Given the description of an element on the screen output the (x, y) to click on. 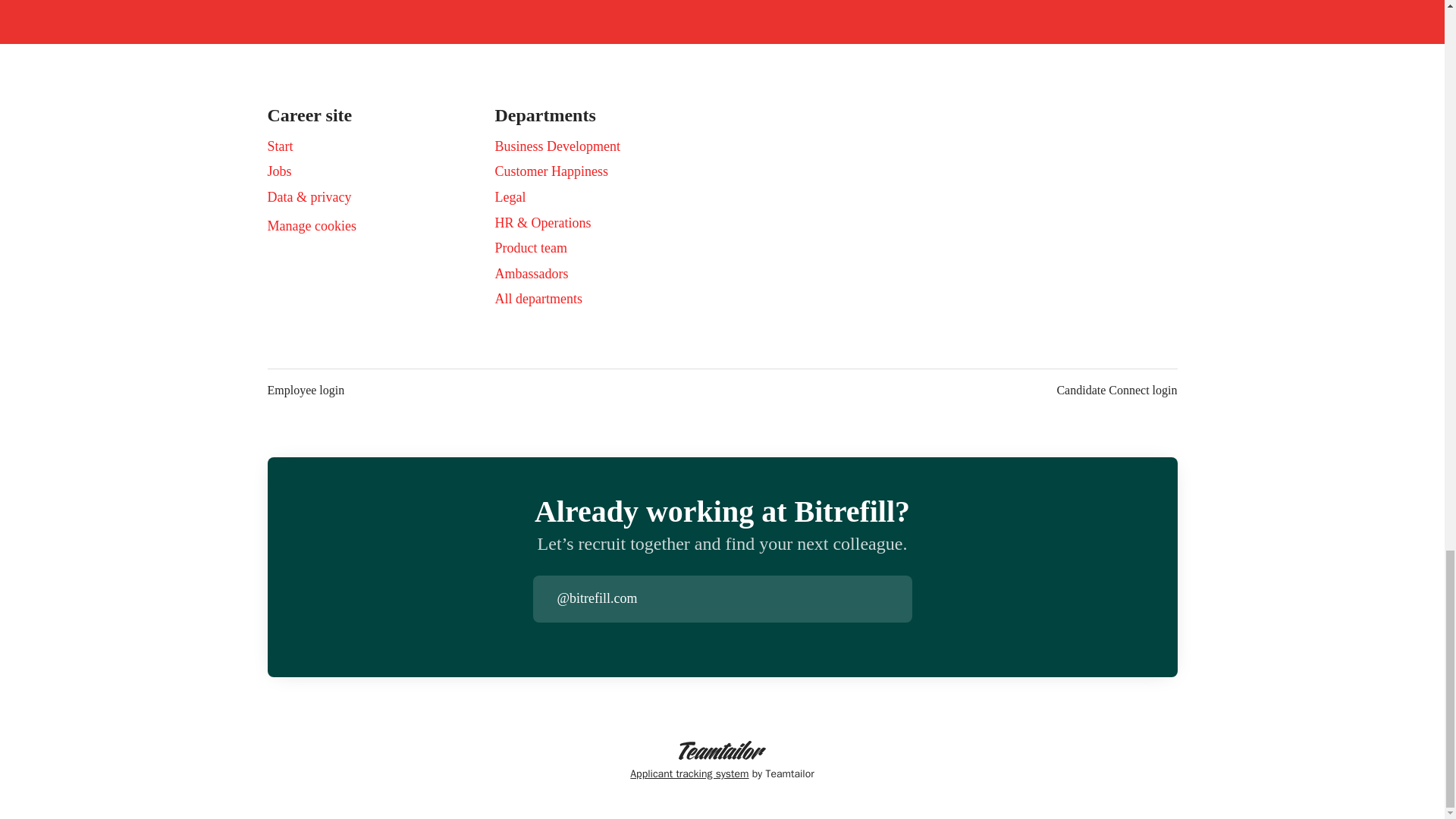
Jobs (278, 170)
All departments (537, 298)
Log in (899, 598)
Product team (530, 247)
Customer Happiness (551, 170)
Manage cookies (310, 226)
Legal (510, 197)
Start (279, 146)
Business Development (557, 146)
Ambassadors (531, 273)
